Given the description of an element on the screen output the (x, y) to click on. 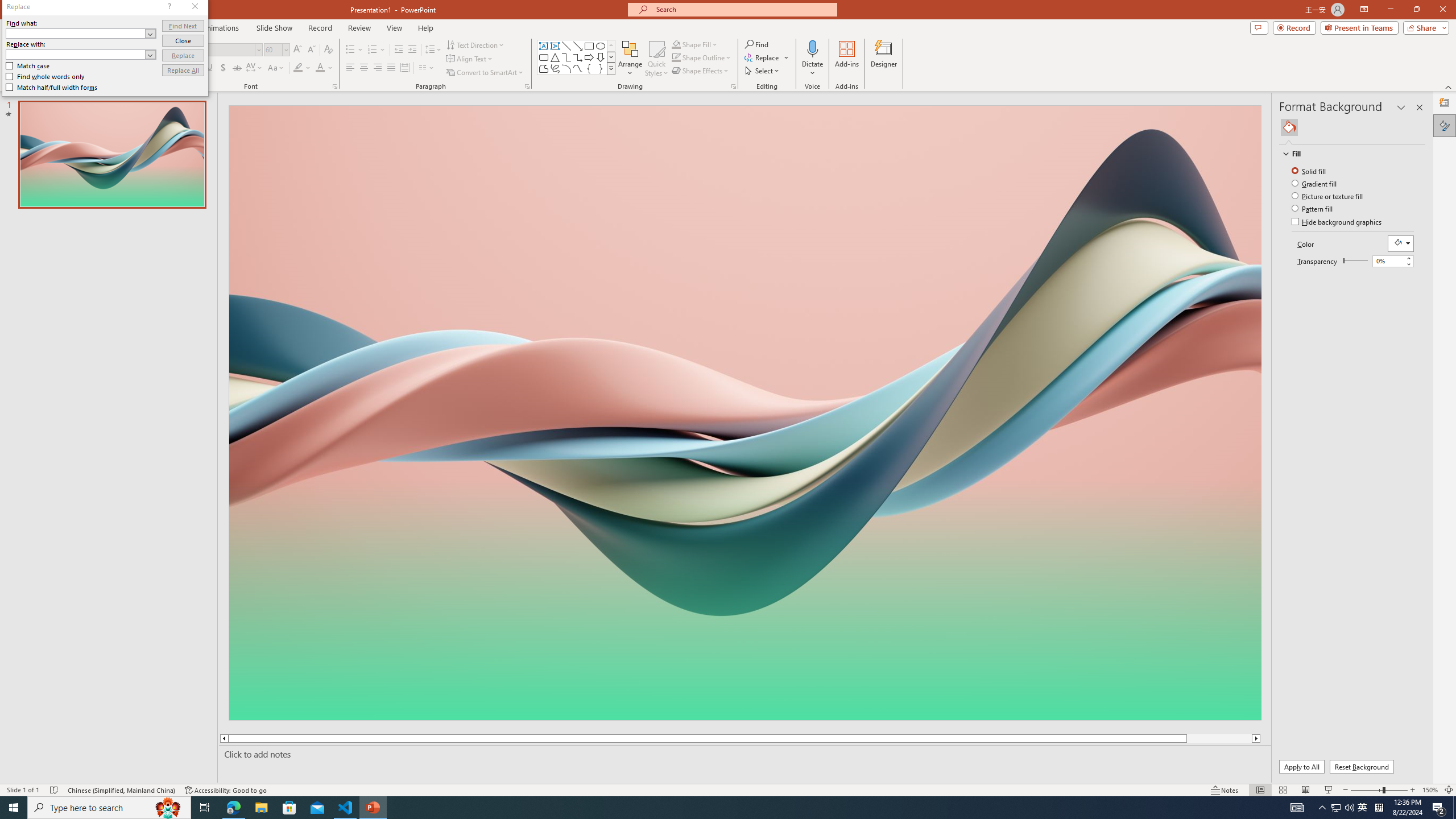
Transparency (1355, 260)
Page right (1358, 260)
Pattern fill (1313, 208)
